Given the description of an element on the screen output the (x, y) to click on. 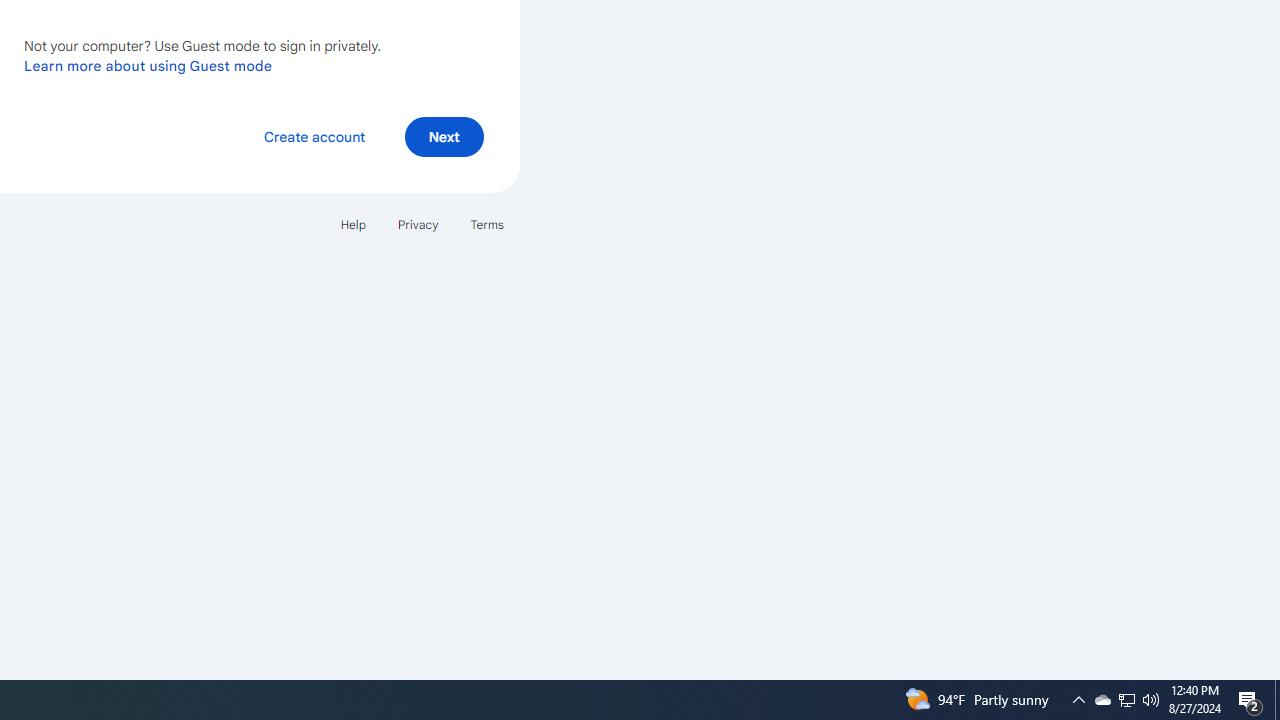
Learn more about using Guest mode (148, 65)
Create account (314, 135)
